Given the description of an element on the screen output the (x, y) to click on. 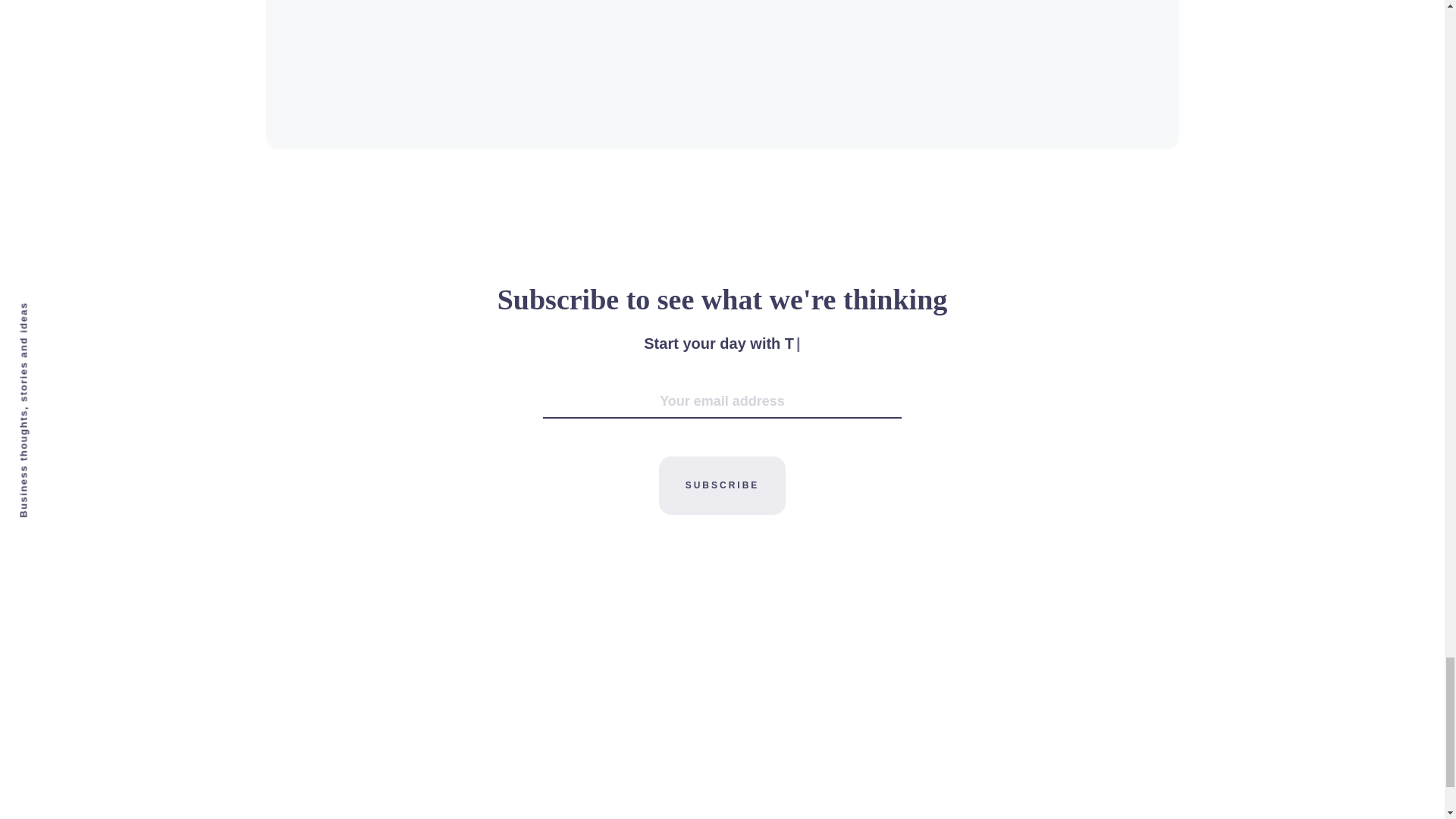
SUBSCRIBE (722, 485)
